Given the description of an element on the screen output the (x, y) to click on. 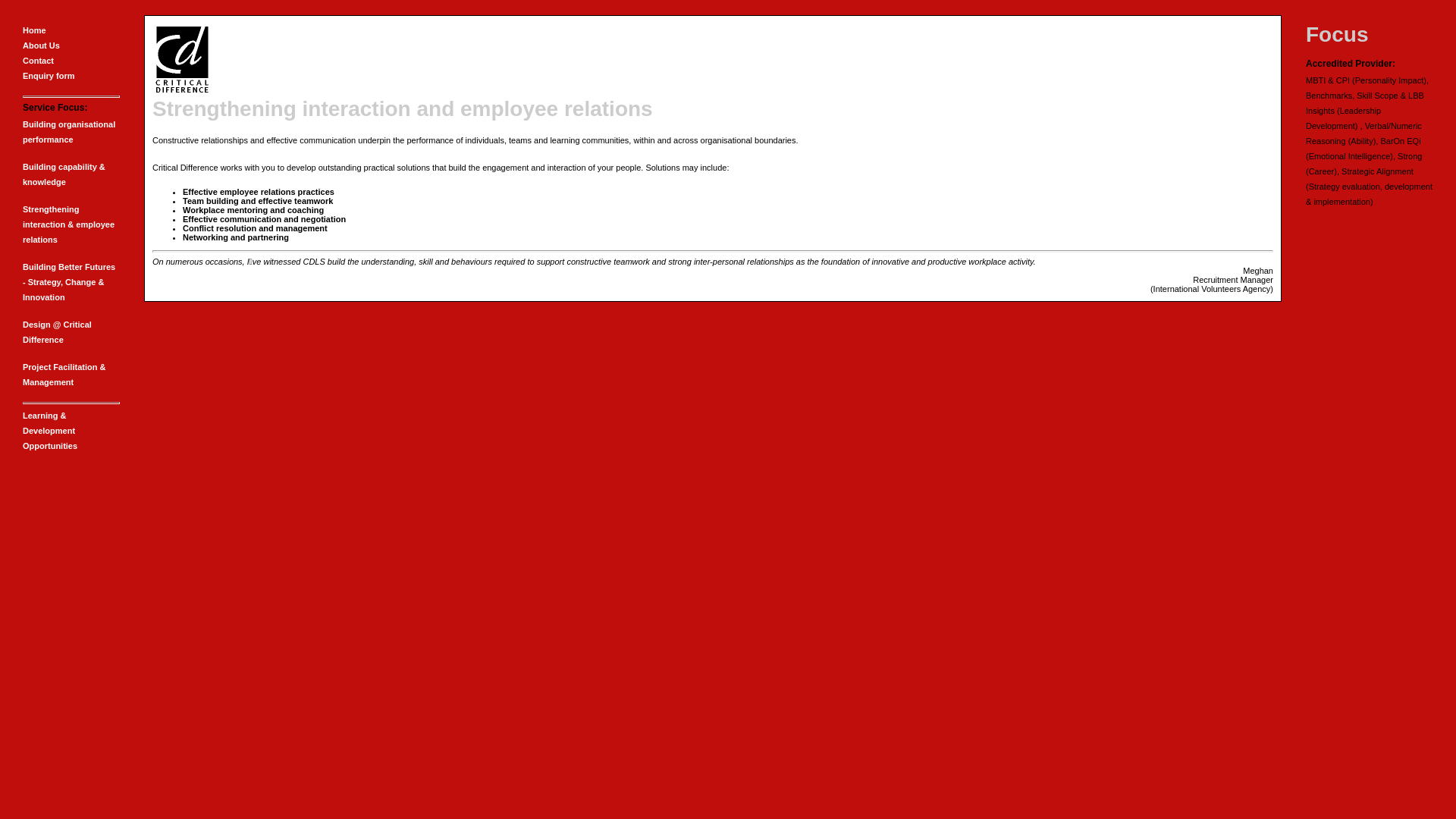
Contact Element type: text (37, 60)
Home Element type: text (34, 29)
Building organisational performance Element type: text (68, 131)
Learning & Development Opportunities Element type: text (49, 430)
Design @ Critical Difference Element type: text (56, 332)
About Us Element type: text (40, 45)
Building capability & knowledge Element type: text (63, 174)
Strengthening interaction & employee relations Element type: text (68, 224)
Enquiry form Element type: text (48, 75)
Building Better Futures - Strategy, Change & Innovation Element type: text (68, 281)
Project Facilitation & Management Element type: text (63, 374)
